Given the description of an element on the screen output the (x, y) to click on. 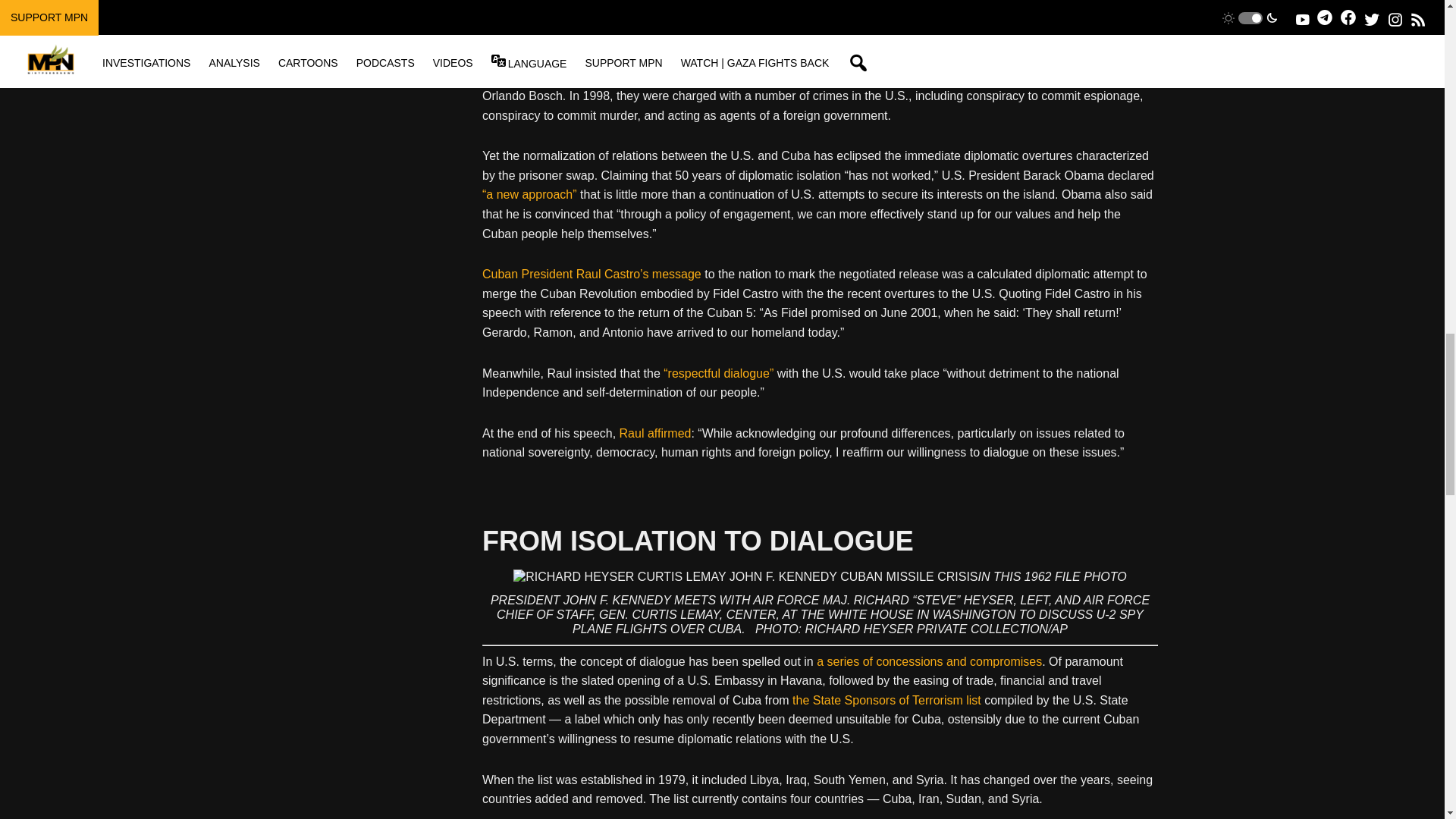
Raul affirmed (655, 432)
the State Sponsors of Terrorism list (886, 699)
a series of concessions and compromises (929, 661)
